Given the description of an element on the screen output the (x, y) to click on. 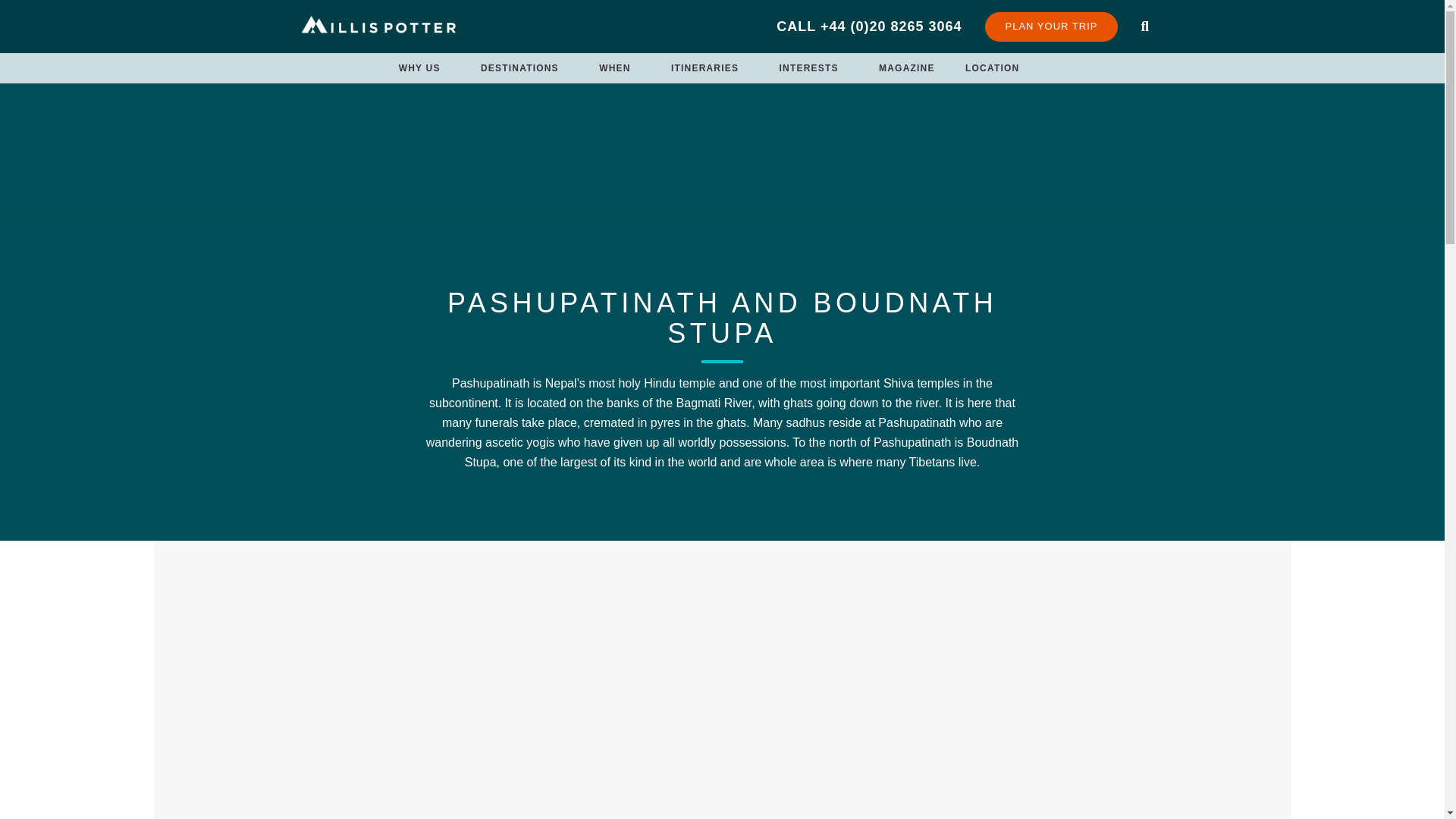
DESTINATIONS (519, 68)
PLAN YOUR TRIP (1051, 26)
WHEN (614, 68)
ITINERARIES (704, 68)
WHY US (420, 68)
INTERESTS (808, 68)
